Given the description of an element on the screen output the (x, y) to click on. 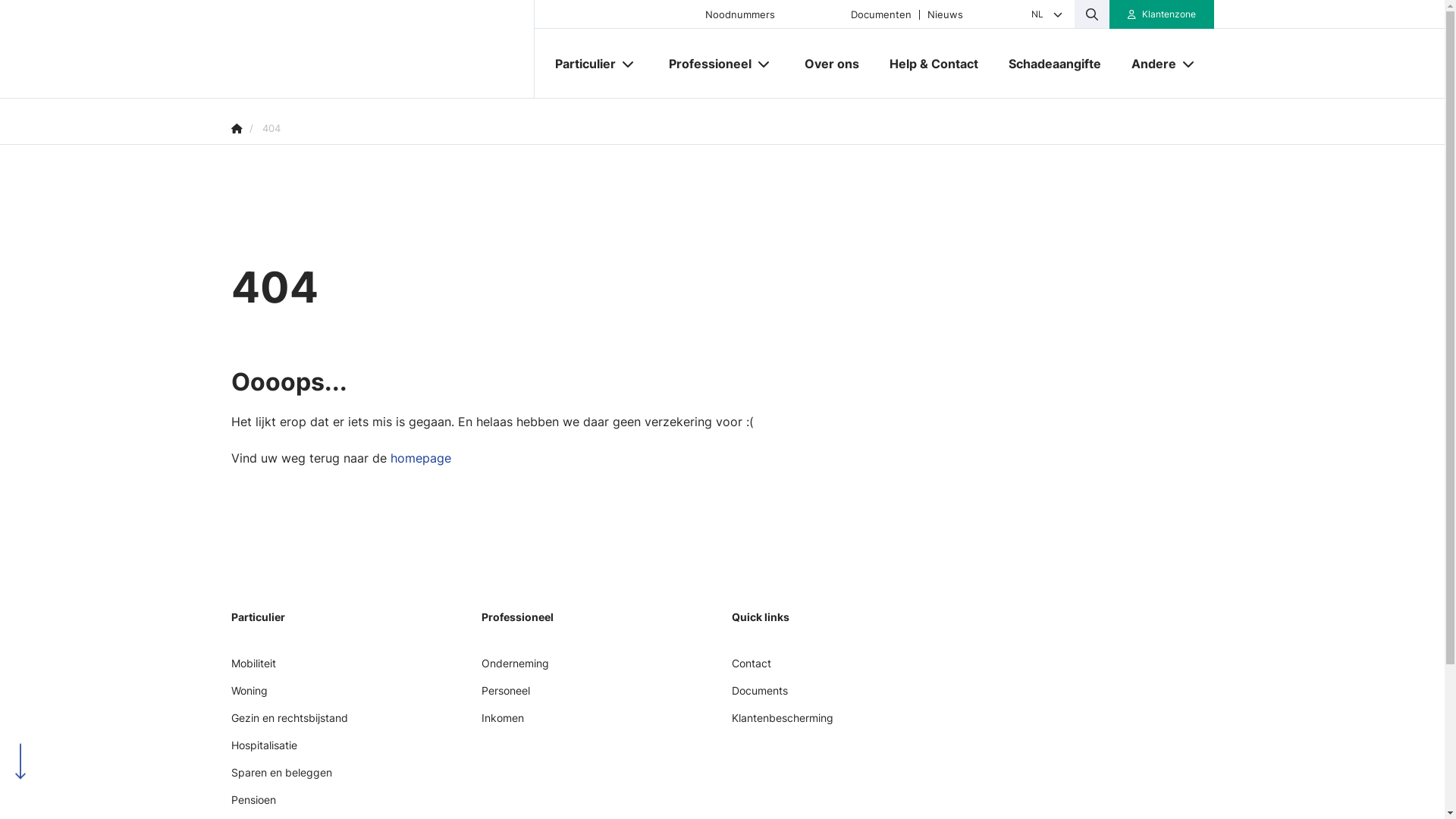
Klantenbescherming Element type: text (781, 723)
Documents Element type: text (759, 695)
Noodnummers Element type: text (739, 13)
Over ons Element type: text (830, 63)
Professioneel Element type: text (704, 63)
Klantenzone Element type: text (1161, 14)
Zoeken Element type: text (42, 18)
Onderneming Element type: text (514, 668)
Mobiliteit Element type: text (252, 668)
Help & Contact Element type: text (932, 63)
Sparen en beleggen Element type: text (280, 777)
Gezin en rechtsbijstand Element type: text (288, 723)
Particulier Element type: text (579, 63)
Contact Element type: text (750, 668)
Inkomen Element type: text (501, 723)
Documenten Element type: text (881, 13)
Andere Element type: text (1147, 63)
Personeel Element type: text (504, 695)
Woning Element type: text (248, 695)
Nieuws Element type: text (944, 13)
Hospitalisatie Element type: text (263, 750)
Schadeaangifte Element type: text (1054, 63)
homepage Element type: text (419, 457)
